Given the description of an element on the screen output the (x, y) to click on. 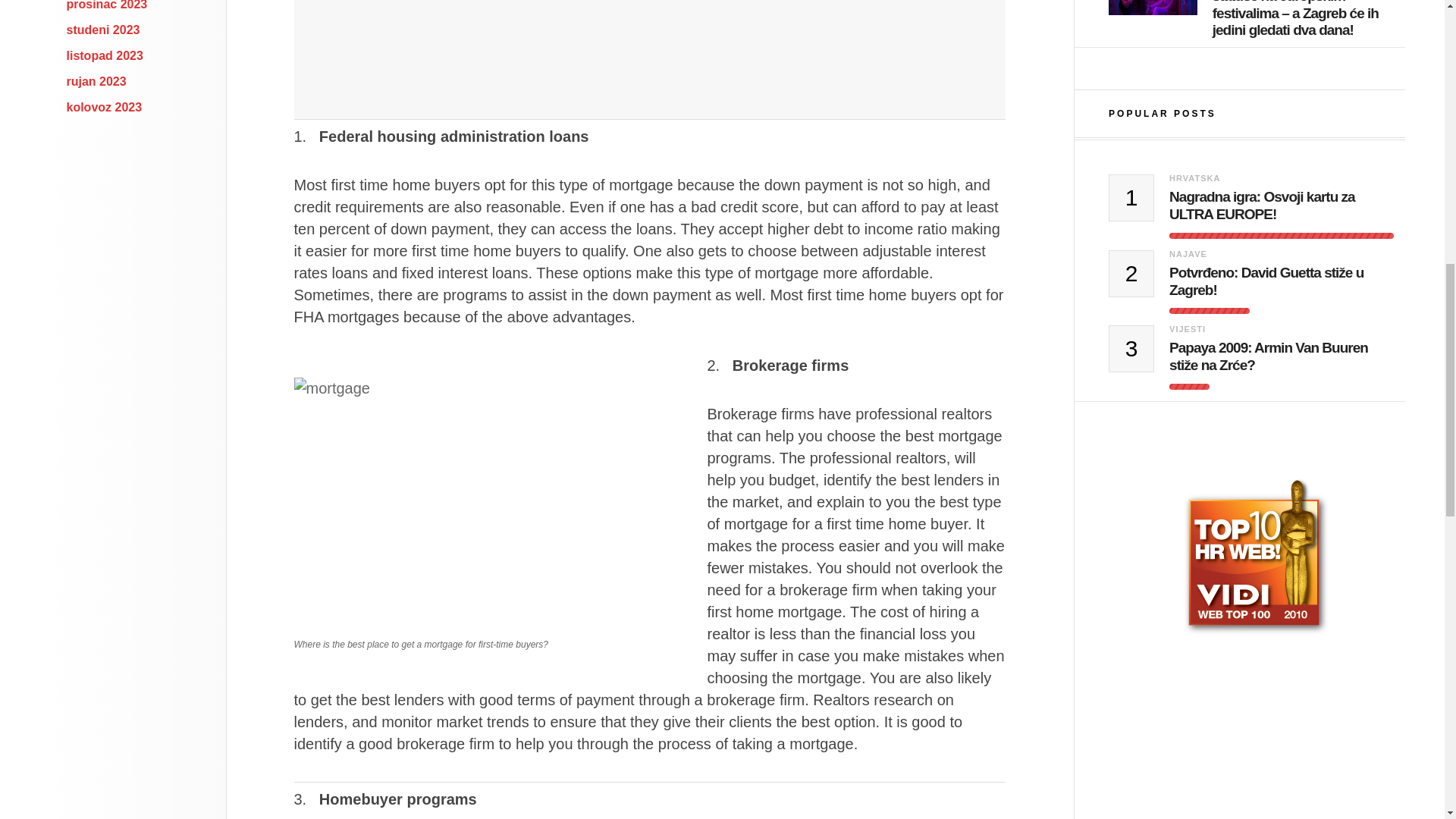
Advertisement (650, 59)
